Given the description of an element on the screen output the (x, y) to click on. 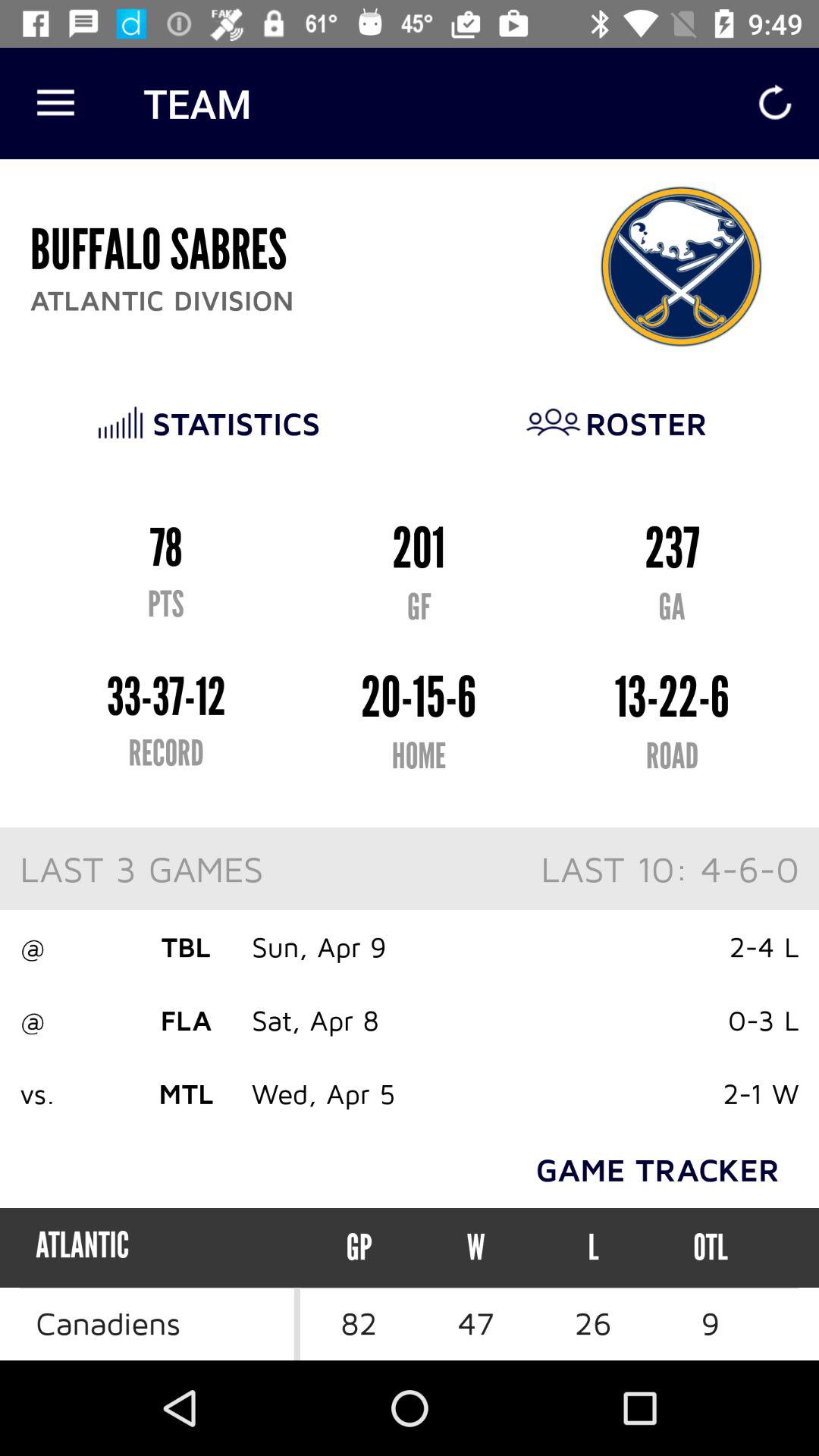
launch the gp icon (358, 1247)
